Given the description of an element on the screen output the (x, y) to click on. 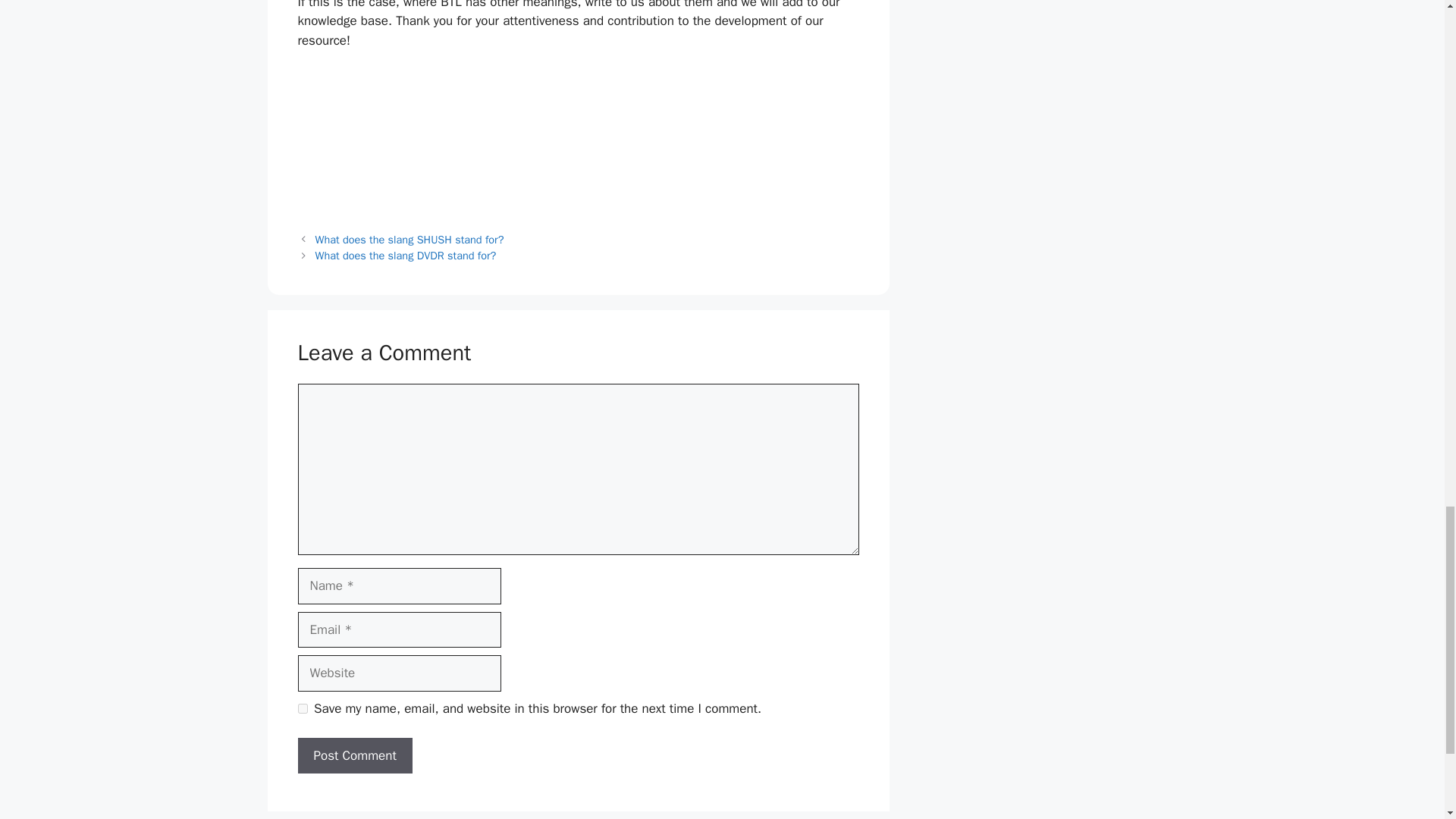
What does the slang DVDR stand for? (405, 255)
yes (302, 708)
Post Comment (354, 755)
What does the slang SHUSH stand for? (409, 239)
Post Comment (354, 755)
